Given the description of an element on the screen output the (x, y) to click on. 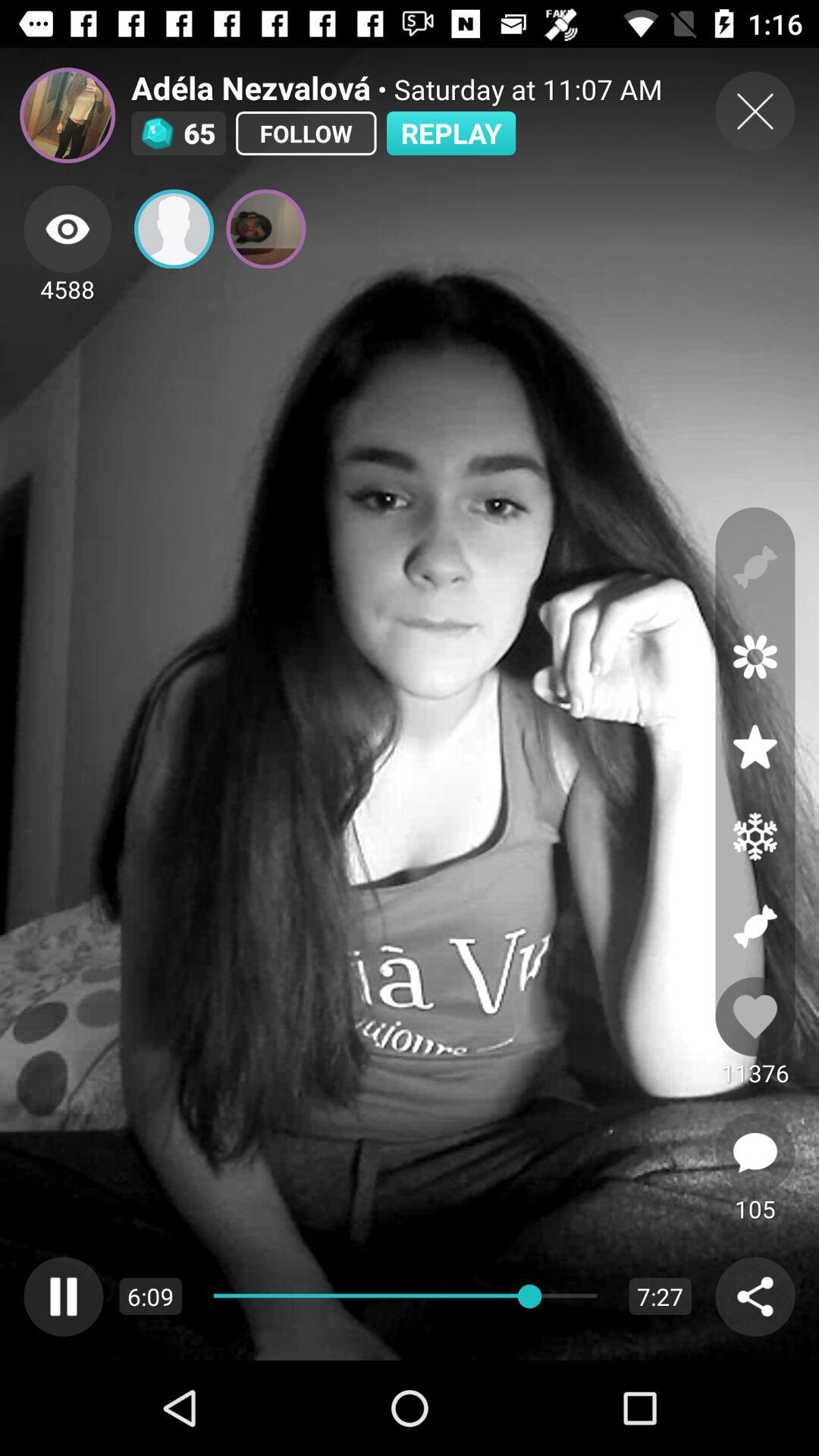
select the image (265, 229)
